Given the description of an element on the screen output the (x, y) to click on. 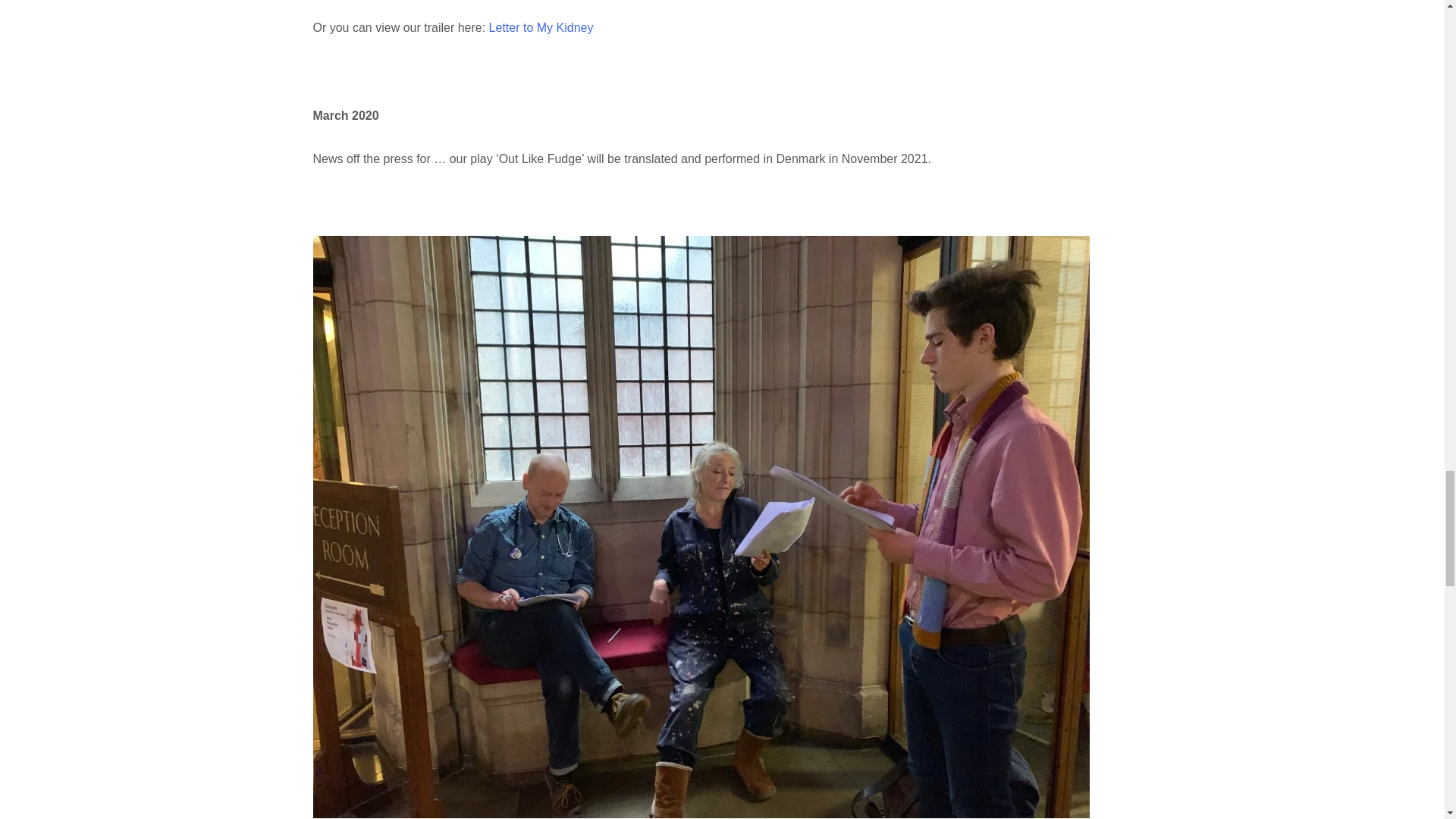
Letter to My Kidney (538, 27)
